Given the description of an element on the screen output the (x, y) to click on. 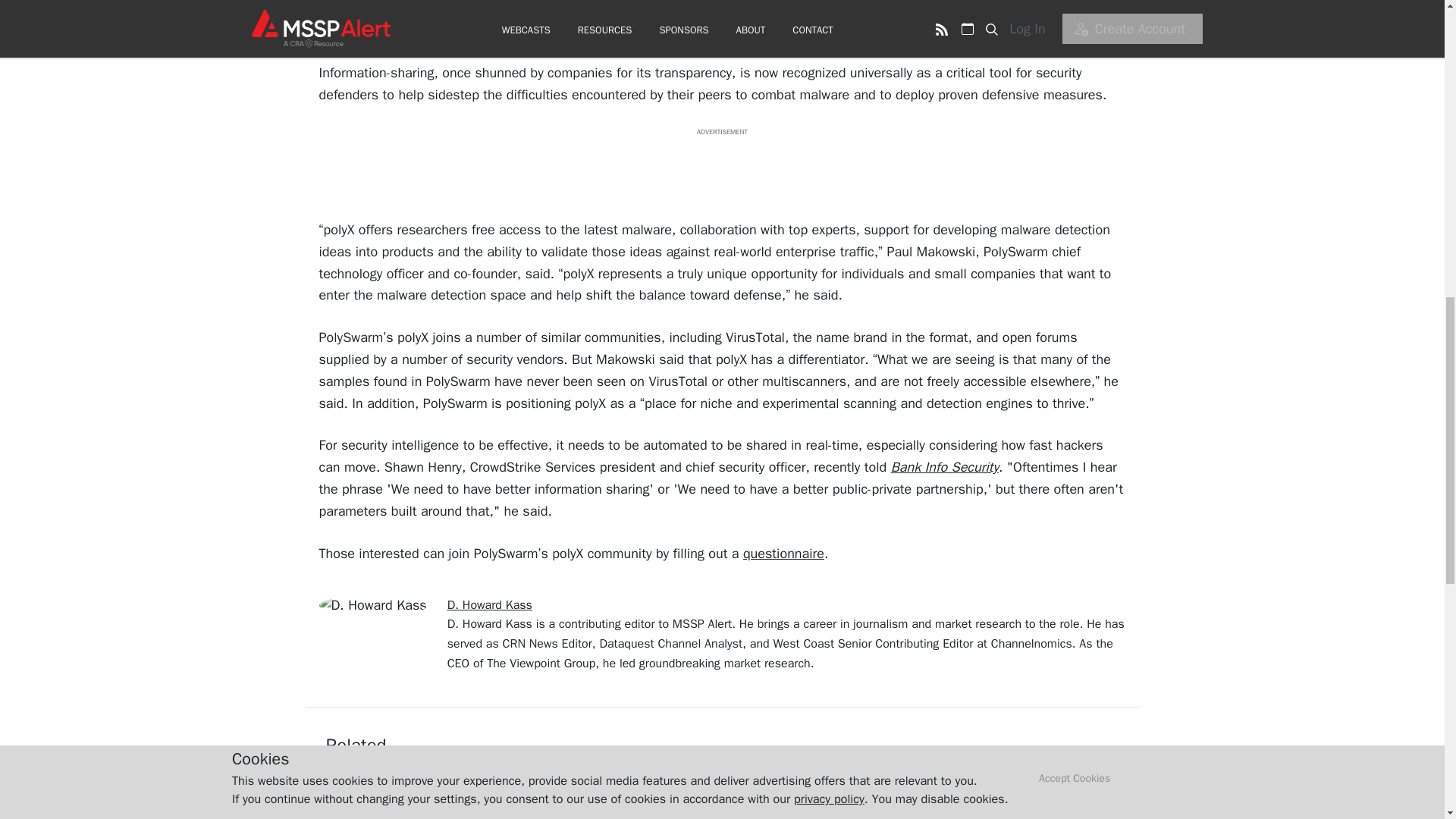
Bank Info Security (944, 466)
questionnaire (783, 553)
VULNERABILITY MANAGEMENT (679, 776)
D. Howard Kass (489, 604)
3rd party ad content (721, 171)
